Given the description of an element on the screen output the (x, y) to click on. 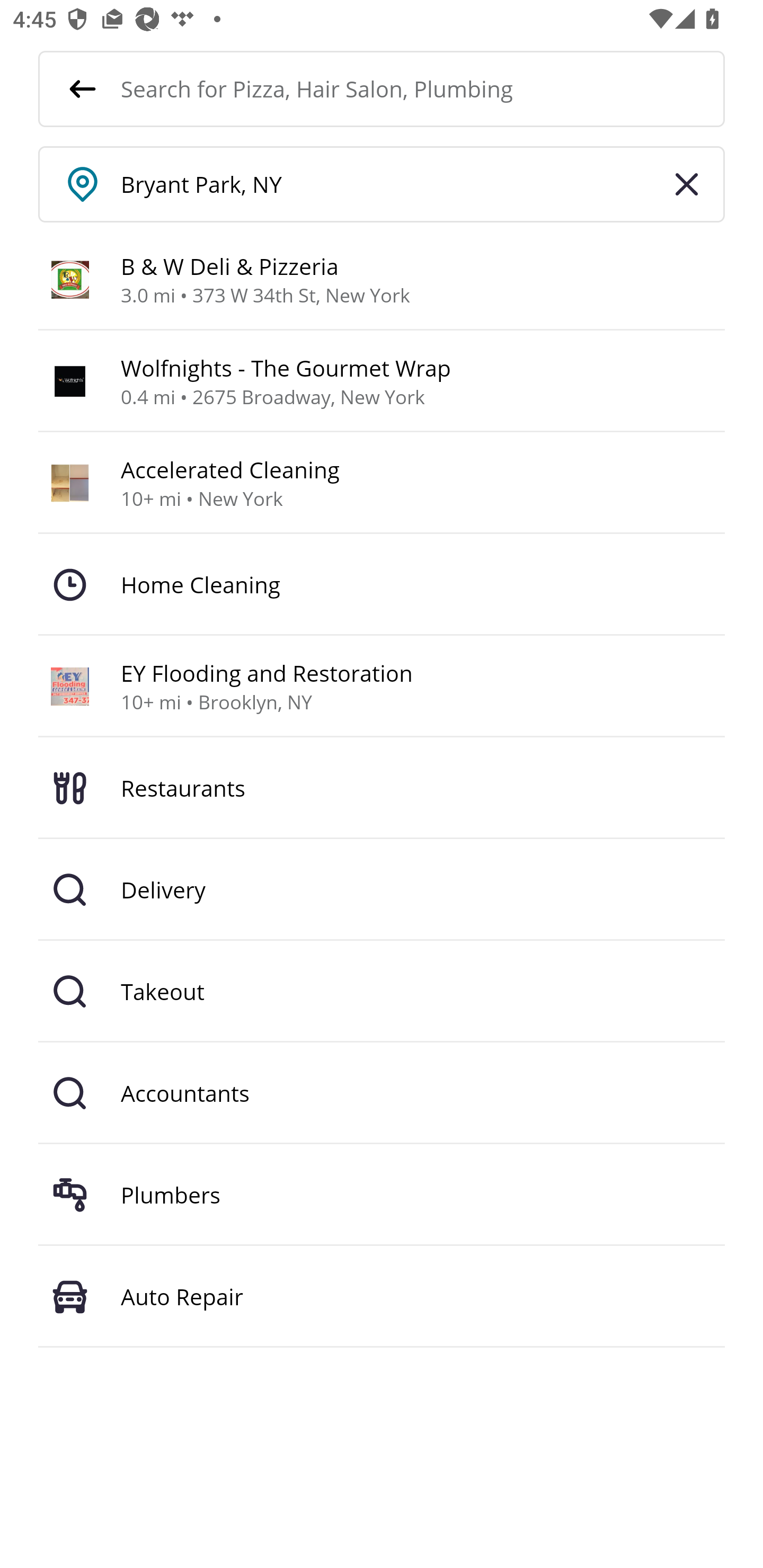
Restaurants (381, 787)
